Given the description of an element on the screen output the (x, y) to click on. 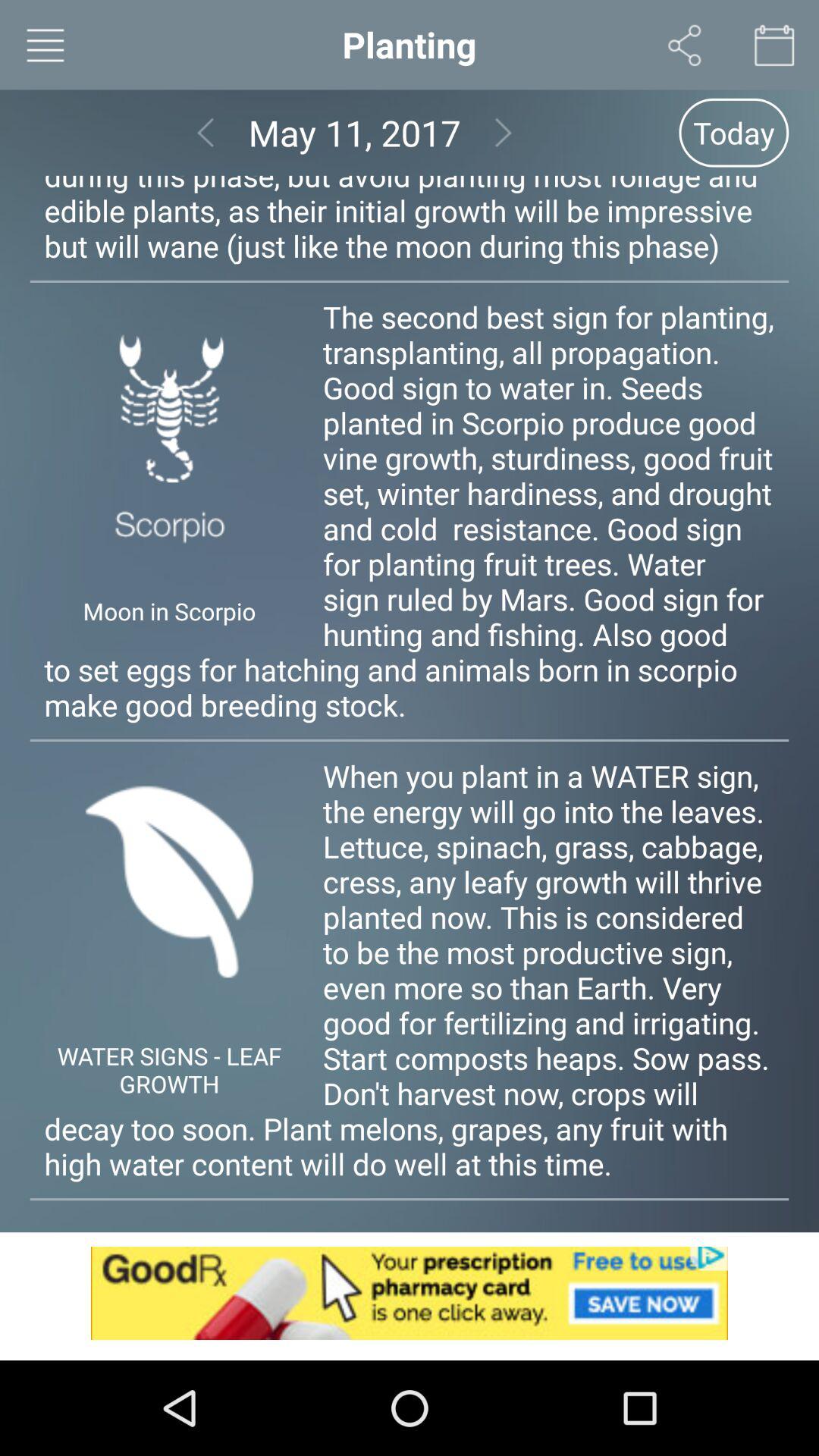
go to previous day (205, 132)
